Given the description of an element on the screen output the (x, y) to click on. 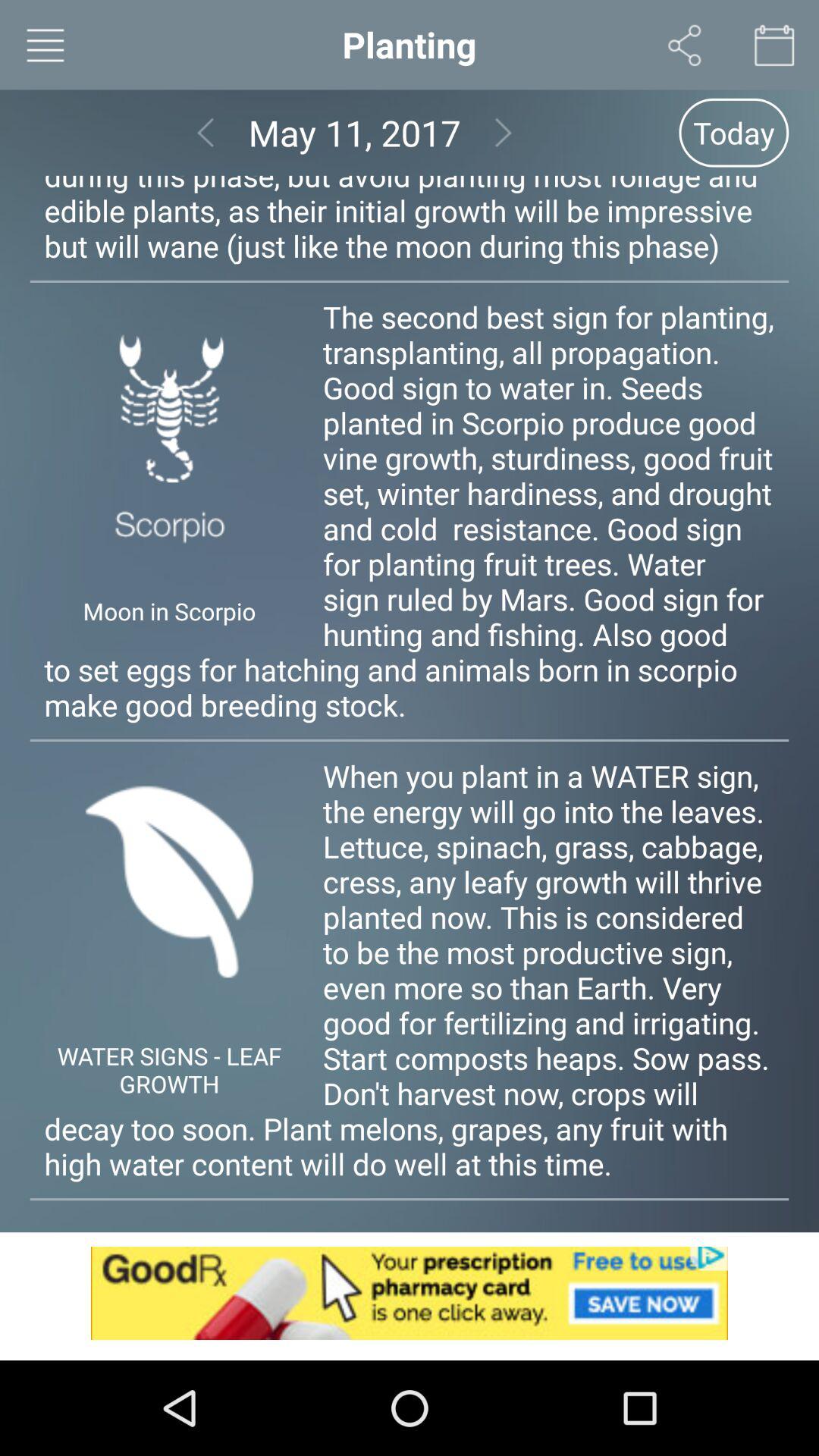
go to previous day (205, 132)
